Given the description of an element on the screen output the (x, y) to click on. 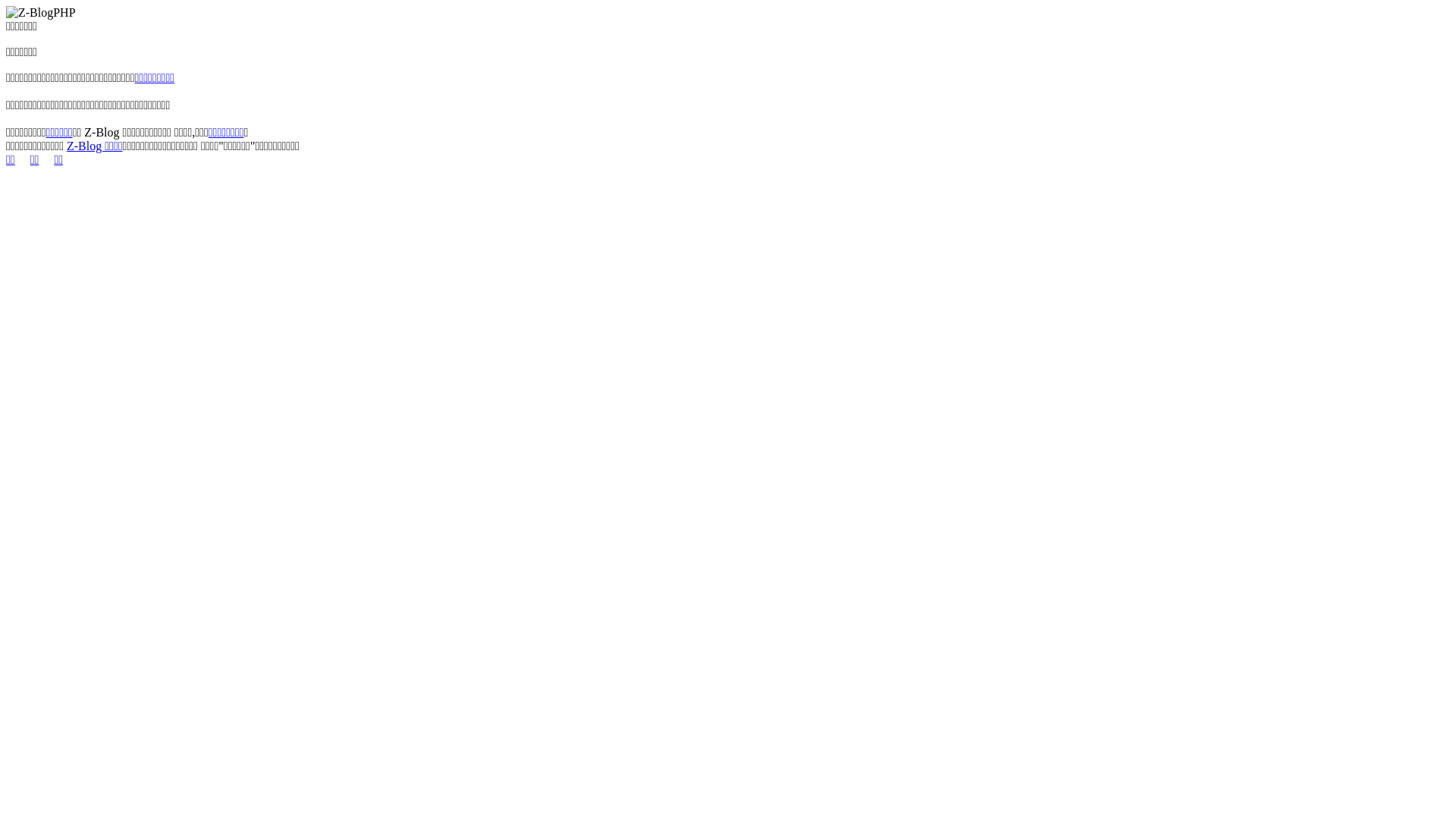
Z-BlogPHP Element type: hover (40, 12)
